Given the description of an element on the screen output the (x, y) to click on. 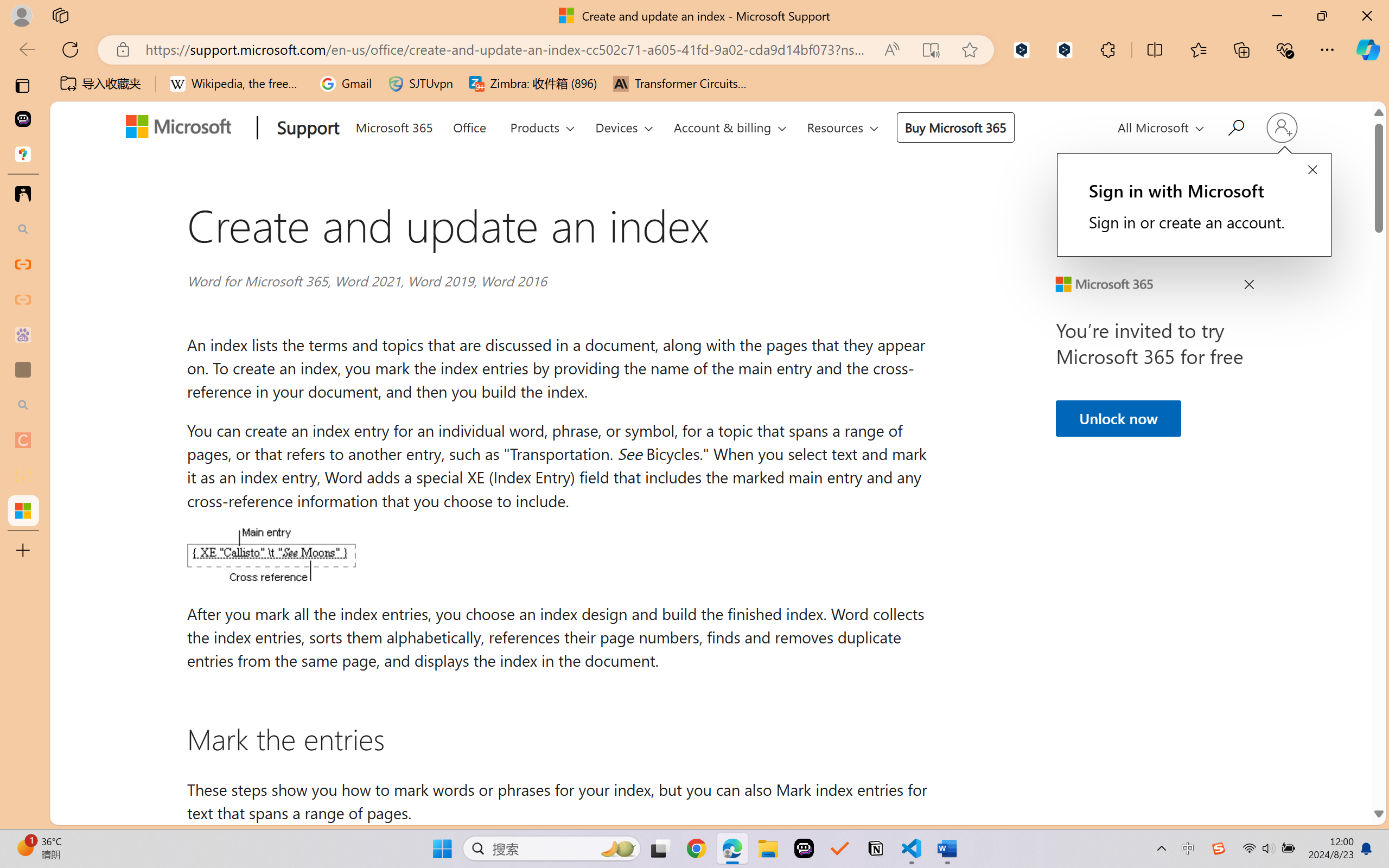
Create and update an index - Microsoft Support (22, 510)
Gmail (345, 83)
Support (305, 128)
Transformer Circuits Thread (680, 83)
Microsoft (182, 128)
